Given the description of an element on the screen output the (x, y) to click on. 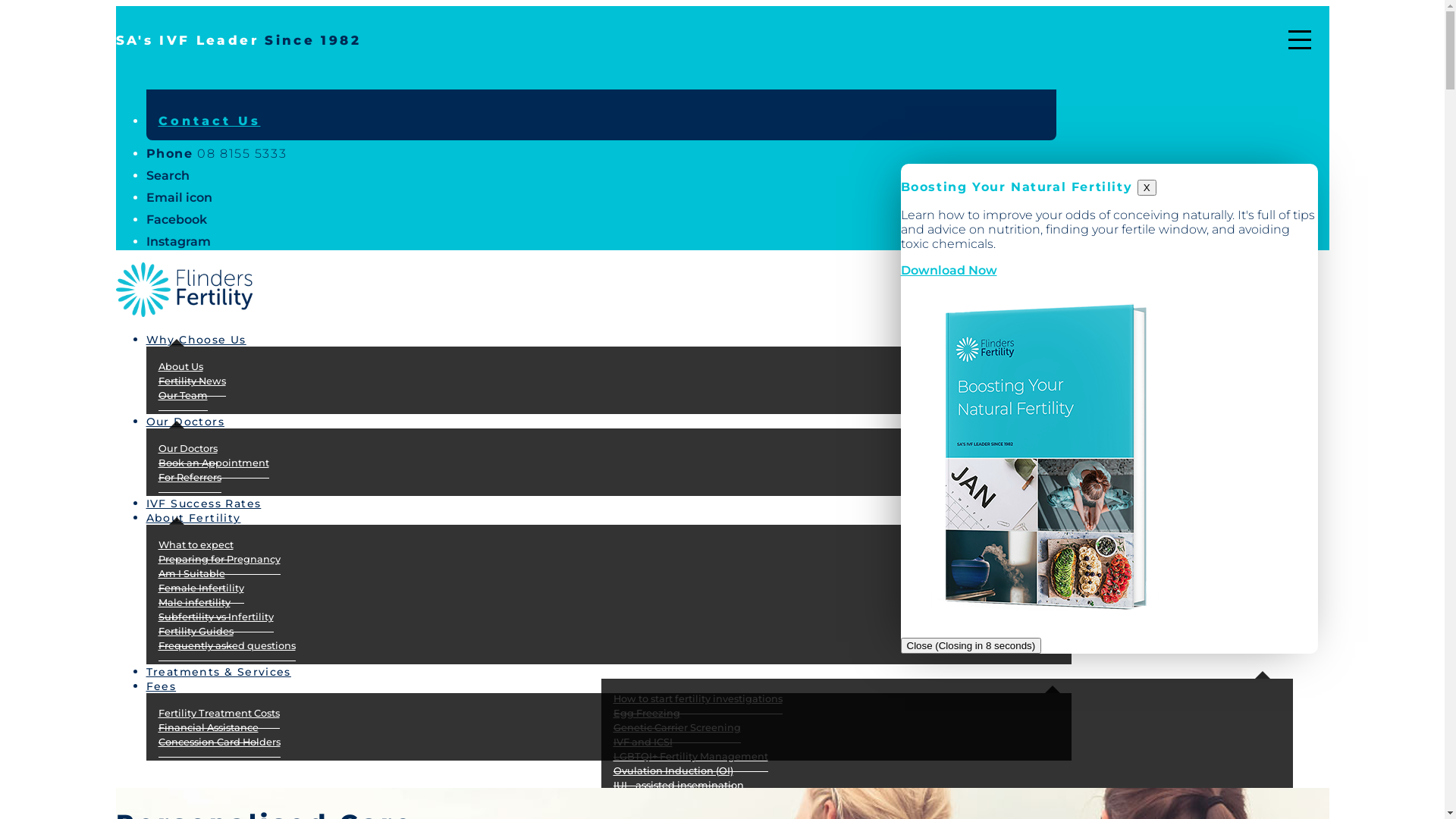
Contact Us Element type: text (208, 120)
What to expect Element type: text (194, 545)
Frequently asked questions Element type: text (225, 645)
IVF and ICSI Element type: text (641, 742)
Close (Closing in 8 seconds) Element type: text (970, 645)
About Fertility Element type: text (204, 514)
Concession Card Holders Element type: text (218, 742)
Female Infertility Element type: text (200, 588)
Fertility Guides Element type: text (194, 631)
Our Team Element type: text (182, 395)
Fertility Treatment Costs Element type: text (218, 713)
For Referrers Element type: text (188, 477)
LGBTQI+ Fertility Management Element type: text (689, 756)
Our Doctors Element type: text (186, 448)
Book an Appointment Element type: text (212, 463)
IUI - assisted insemination Element type: text (677, 785)
Male infertility Element type: text (193, 602)
About Us Element type: text (179, 366)
Preparing for Pregnancy Element type: text (218, 559)
Fees Element type: text (160, 683)
Frozen Embryo Transfer Element type: text (671, 799)
Why Choose Us Element type: text (207, 336)
Fertility News Element type: text (191, 381)
Download Now Element type: text (948, 270)
Genetic Carrier Screening Element type: text (676, 727)
Treatments & Services Element type: text (229, 668)
Facebook Element type: text (175, 219)
Am I Suitable Element type: text (190, 573)
Email icon Element type: text (178, 197)
Egg Freezing Element type: text (645, 713)
Instagram Element type: text (177, 241)
Ovulation Induction (OI) Element type: text (672, 771)
How to start fertility investigations Element type: text (696, 699)
X Element type: text (1146, 187)
IVF Success Rates Element type: text (215, 500)
Subfertility vs Infertility Element type: text (215, 617)
Our Doctors Element type: text (196, 418)
Search Element type: text (166, 175)
Financial Assistance Element type: text (207, 727)
